Given the description of an element on the screen output the (x, y) to click on. 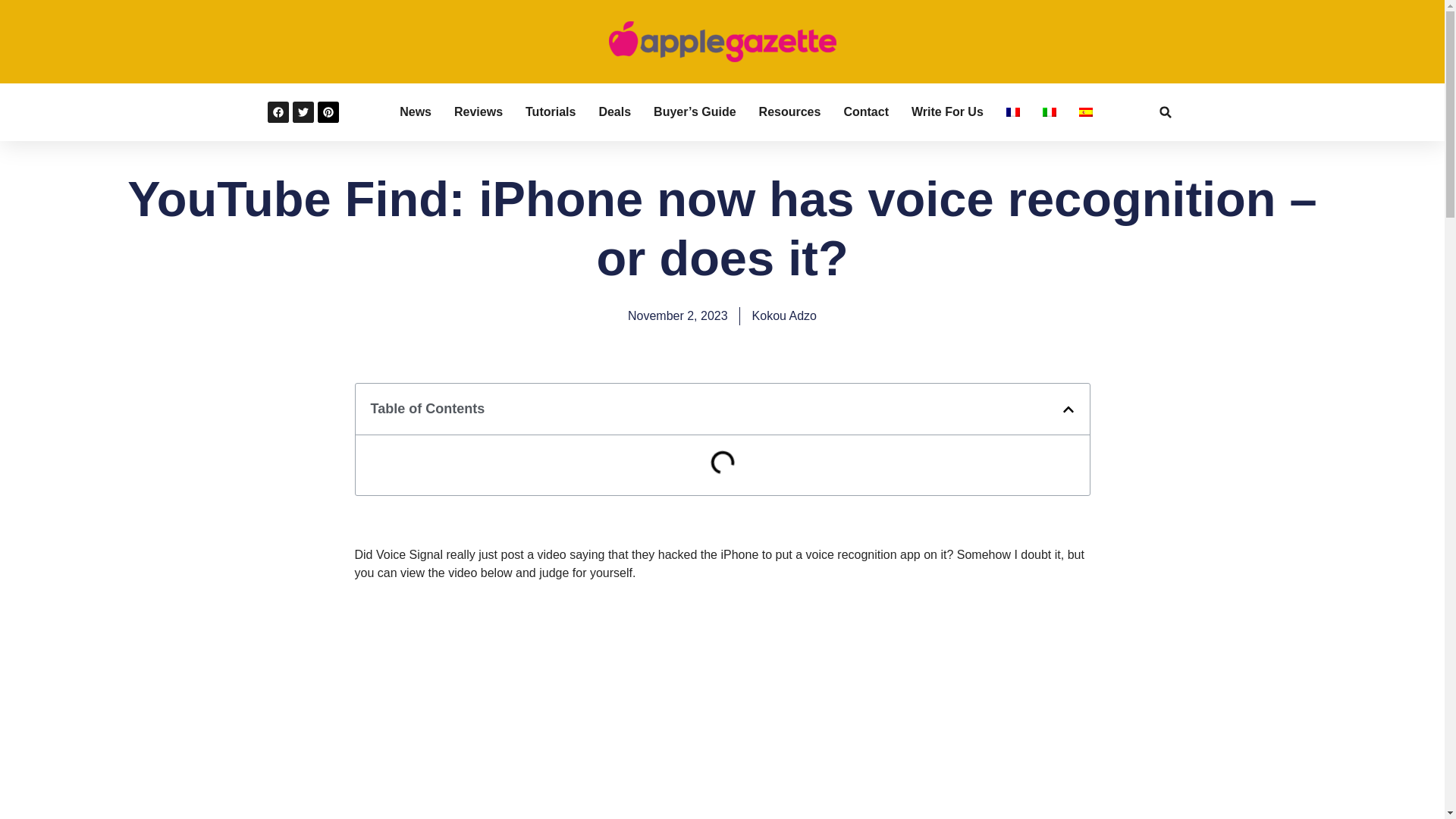
Deals (614, 112)
News (414, 112)
Reviews (478, 112)
Tutorials (550, 112)
Write For Us (947, 112)
Contact (865, 112)
Resources (789, 112)
